Given the description of an element on the screen output the (x, y) to click on. 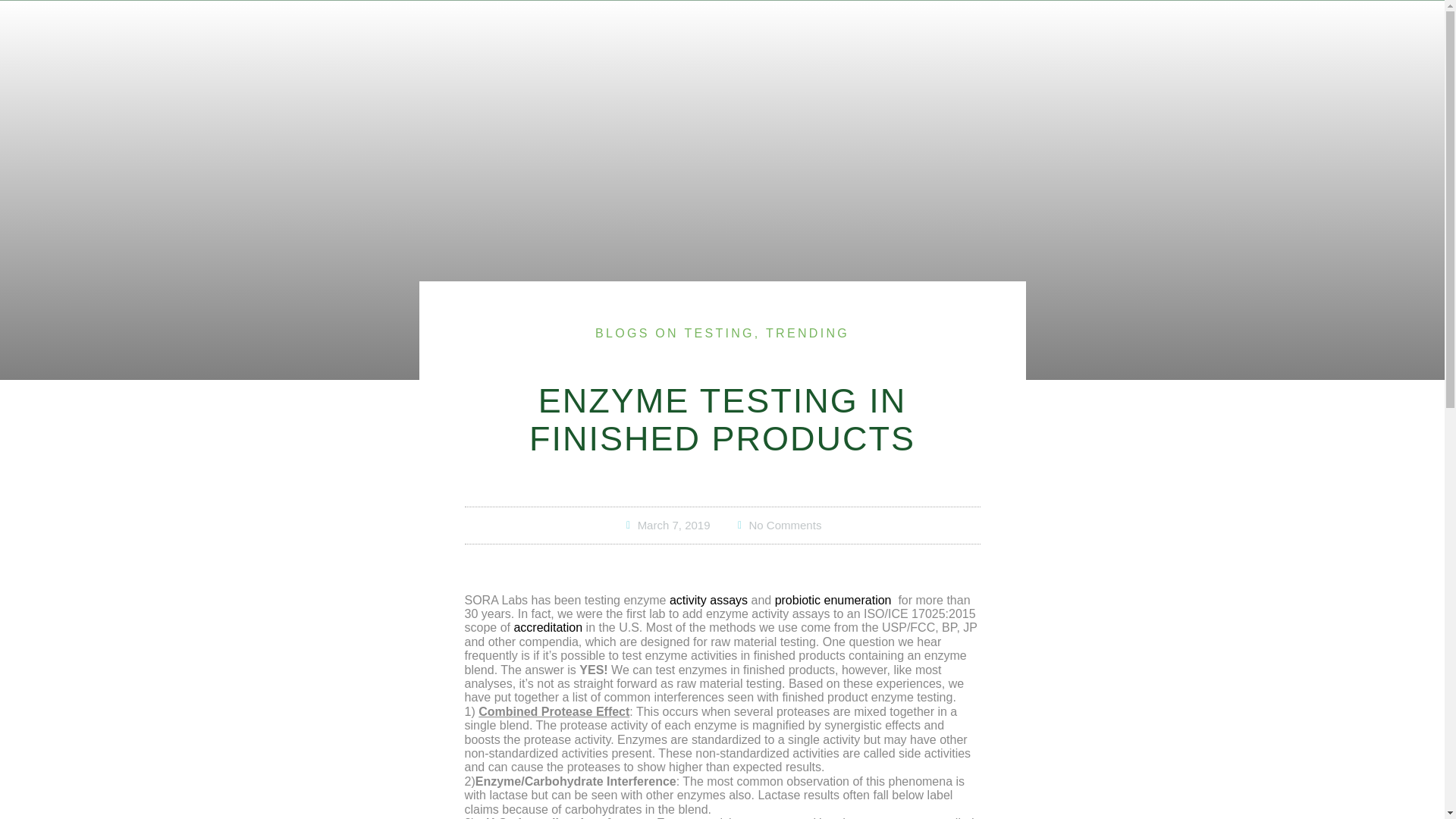
BLOGS ON TESTING (674, 332)
March 7, 2019 (666, 524)
No Comments (778, 524)
TRENDING (806, 332)
accreditation (547, 626)
probiotic enumeration (832, 599)
activity assays (708, 599)
